Given the description of an element on the screen output the (x, y) to click on. 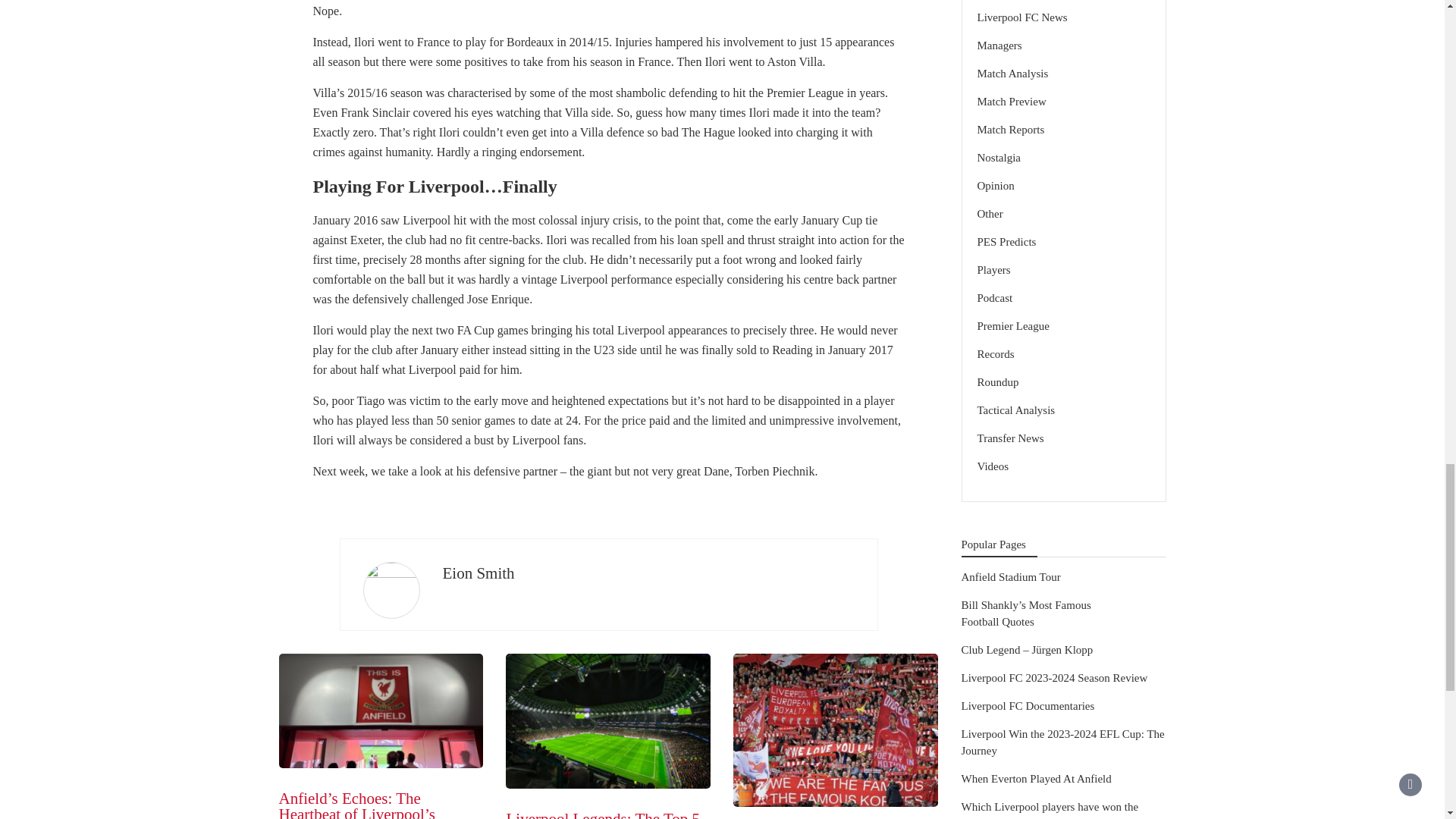
Liverpool Legends: The Top 5 Iconic Goals by Steven Gerrard (606, 814)
Eion Smith (478, 573)
